Given the description of an element on the screen output the (x, y) to click on. 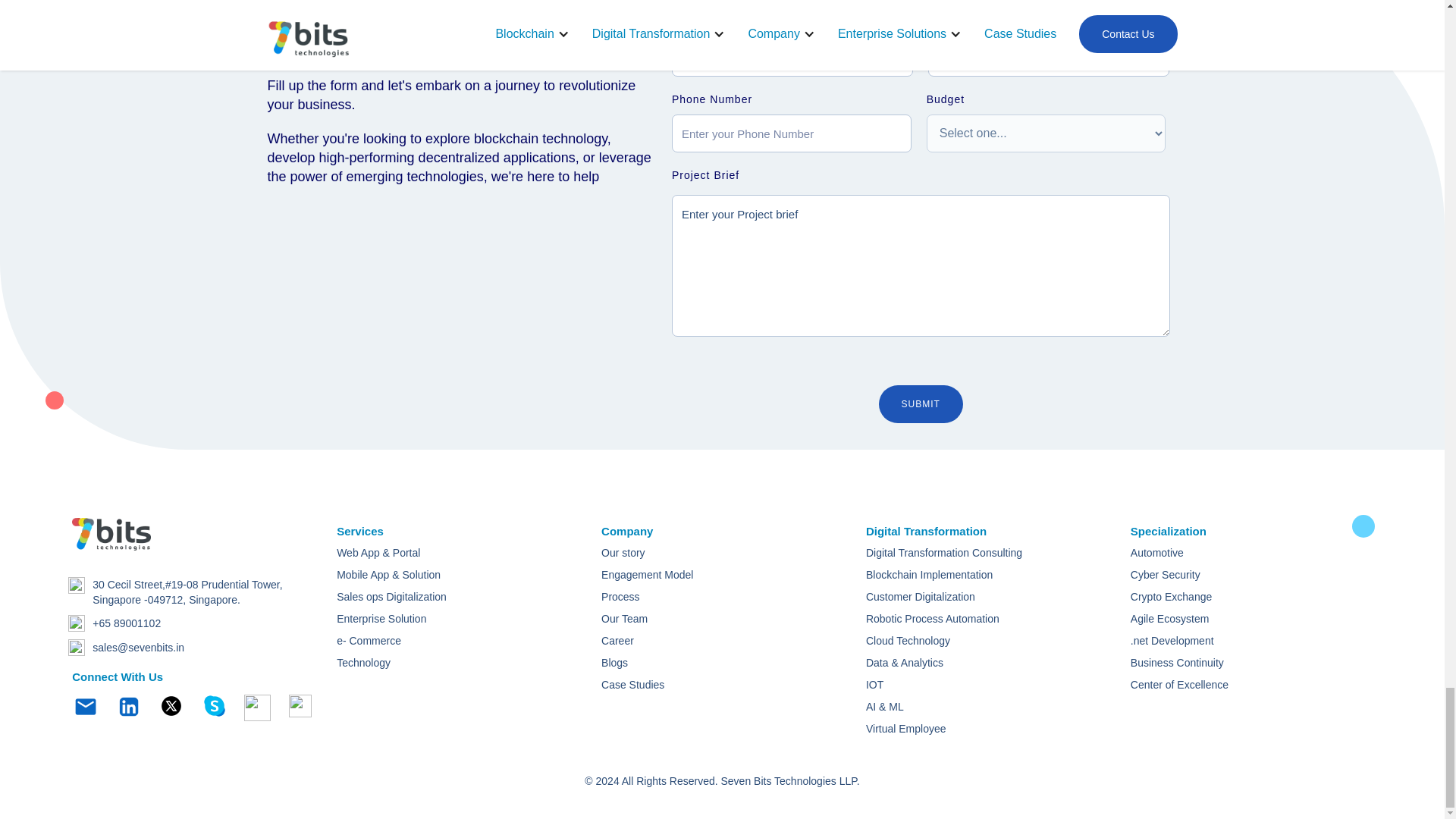
Submit (920, 403)
